Given the description of an element on the screen output the (x, y) to click on. 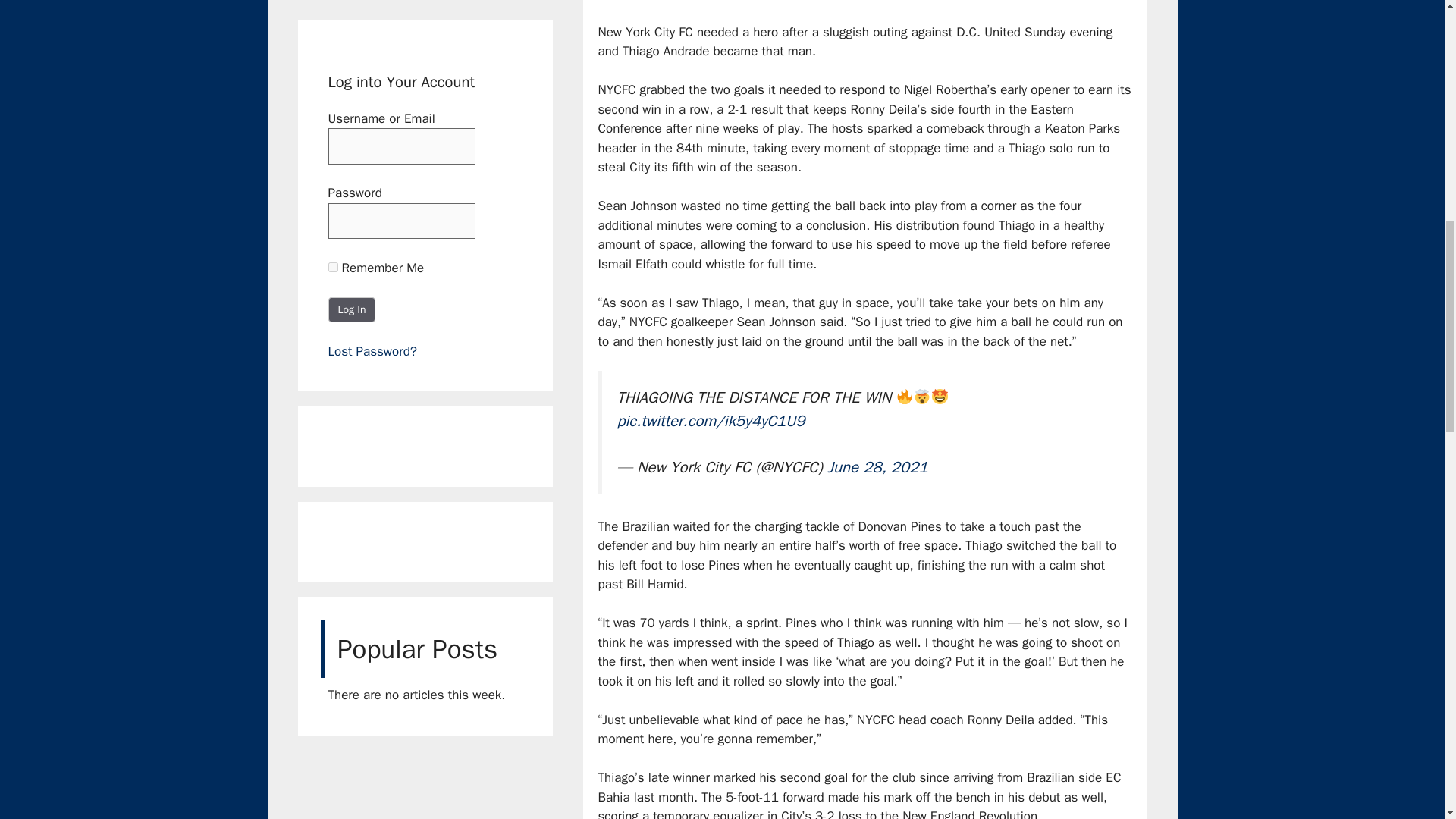
forever (332, 266)
Log In (351, 309)
